Given the description of an element on the screen output the (x, y) to click on. 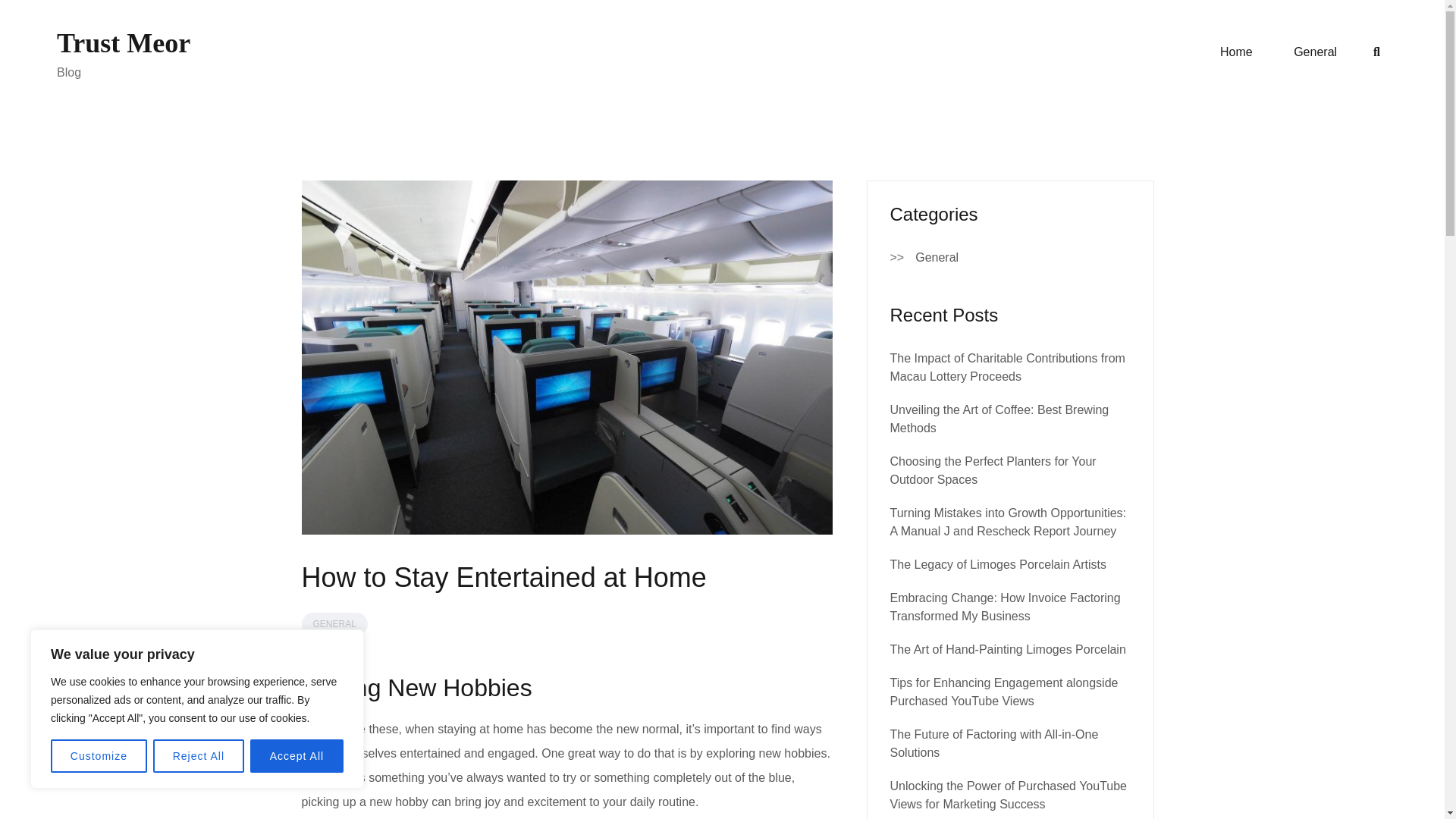
Choosing the Perfect Planters for Your Outdoor Spaces (992, 470)
Unveiling the Art of Coffee: Best Brewing Methods (999, 418)
Customize (98, 756)
Home (1236, 52)
Reject All (198, 756)
Trust Meor (123, 42)
General (936, 257)
Accept All (296, 756)
The Legacy of Limoges Porcelain Artists (997, 563)
GENERAL (334, 623)
General (1315, 52)
